Given the description of an element on the screen output the (x, y) to click on. 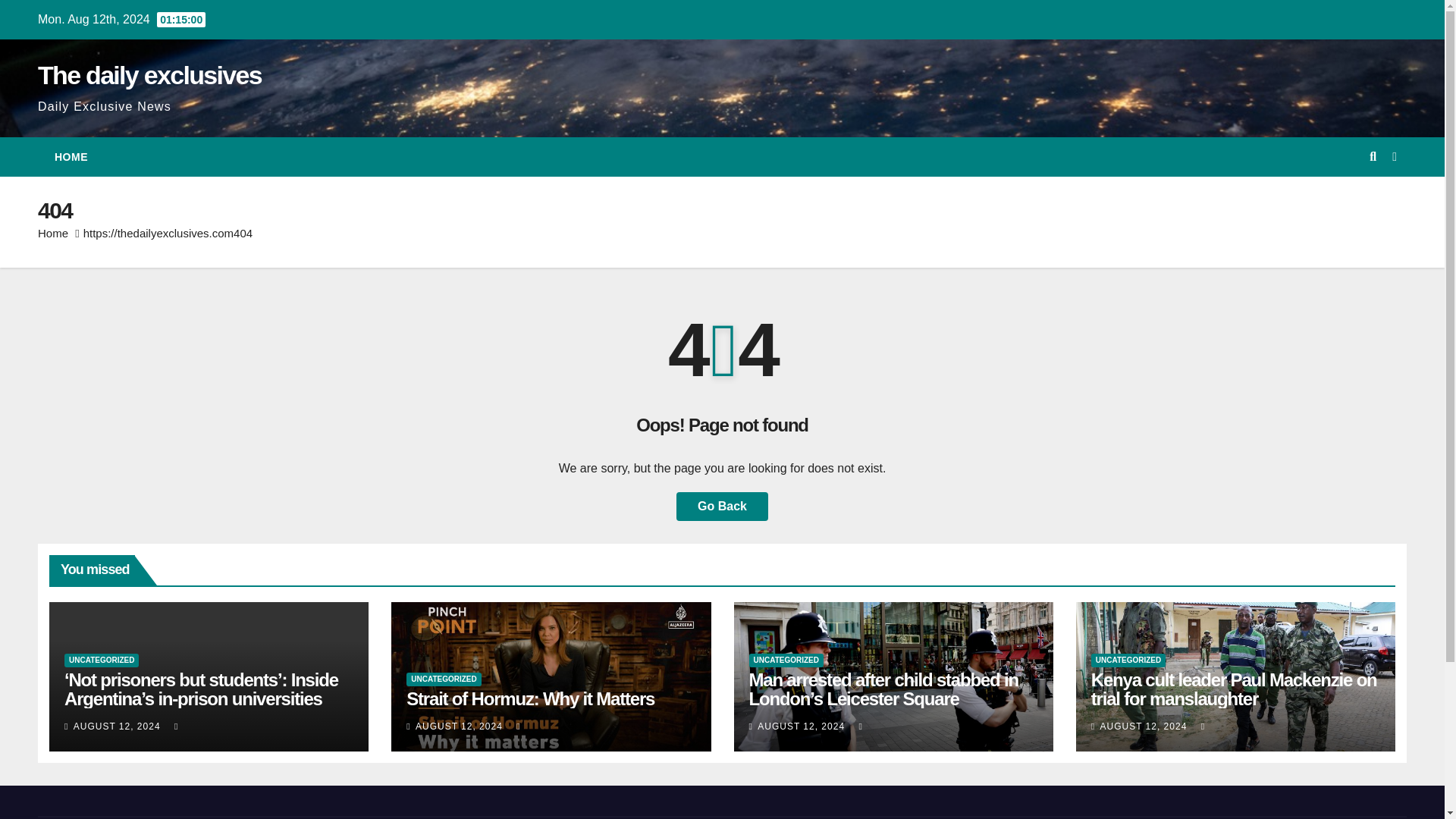
Strait of Hormuz: Why it Matters (529, 698)
HOME (70, 156)
Go Back (722, 506)
AUGUST 12, 2024 (802, 726)
AUGUST 12, 2024 (1144, 726)
The daily exclusives (149, 74)
UNCATEGORIZED (443, 679)
UNCATEGORIZED (1128, 660)
UNCATEGORIZED (786, 660)
